Given the description of an element on the screen output the (x, y) to click on. 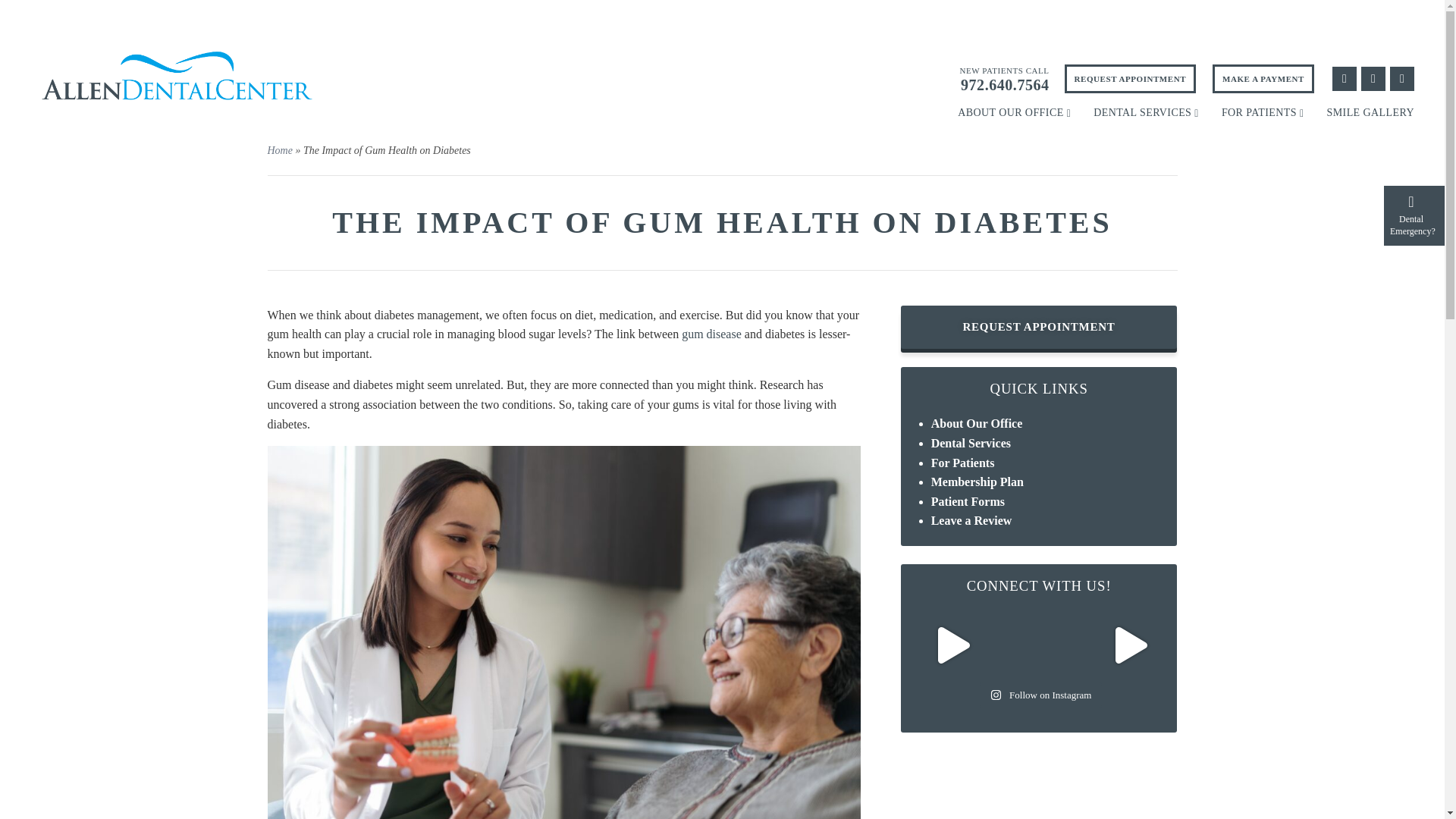
ABOUT OUR OFFICE (1014, 112)
REQUEST APPOINTMENT (1129, 78)
MAKE A PAYMENT (1263, 78)
FOR PATIENTS (1262, 112)
DENTAL SERVICES (1145, 112)
